Given the description of an element on the screen output the (x, y) to click on. 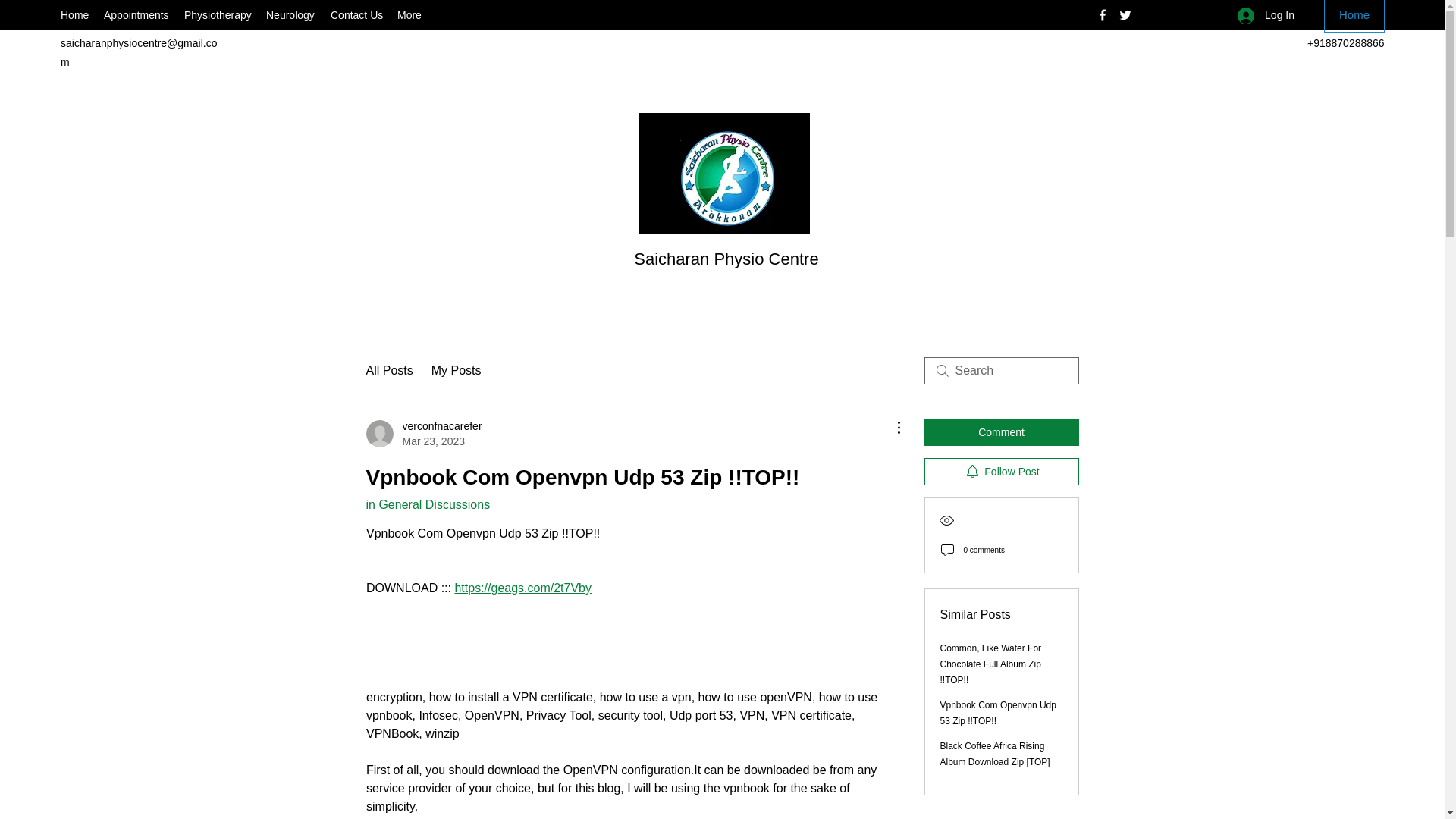
Follow Post (1000, 471)
Log In (1265, 15)
Comment (1000, 431)
Home (1353, 16)
Contact Us (423, 433)
All Posts (356, 15)
Home (388, 370)
My Posts (74, 15)
Common, Like Water For Chocolate Full Album Zip !!TOP!! (455, 370)
Saicharan Physio Centre (991, 663)
Physiotherapy (725, 258)
Neurology (217, 15)
in General Discussions (291, 15)
Appointments (427, 504)
